Given the description of an element on the screen output the (x, y) to click on. 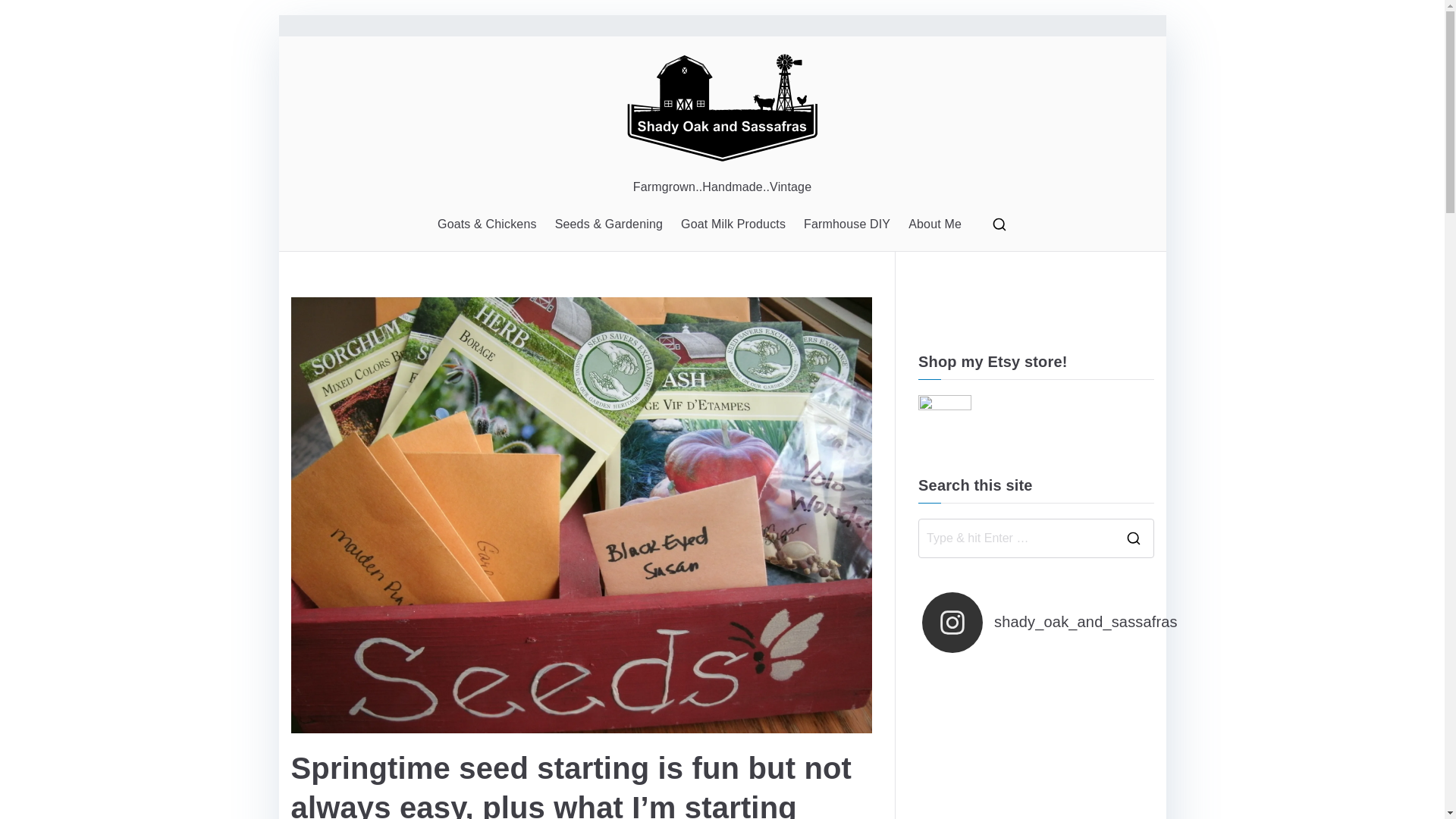
Pinterest (985, 309)
About Me (934, 224)
Farmhouse DIY (846, 224)
Search (26, 18)
Shop my Etsy store! (944, 419)
Instagram (958, 309)
Facebook (930, 309)
Search for: (1015, 538)
Goat Milk Products (733, 224)
